Given the description of an element on the screen output the (x, y) to click on. 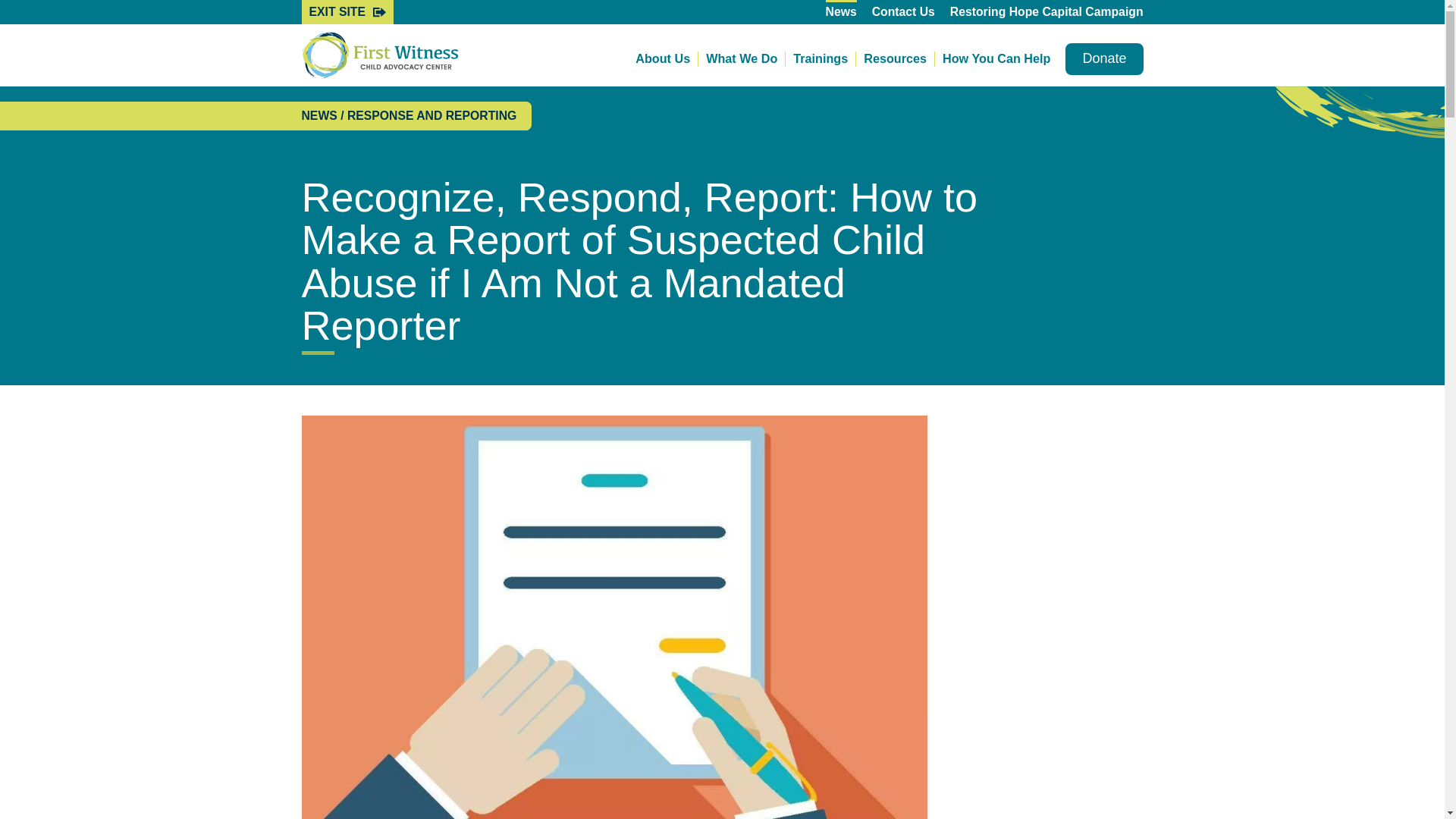
News (841, 12)
Forensic Interviewing (760, 125)
About Us (666, 58)
EXIT SITE (347, 12)
Contact Us (903, 12)
Go to the Response and Reporting category archives. (431, 115)
What We Do (746, 58)
Go to News. (319, 115)
Restoring Hope Capital Campaign (1046, 12)
Staff (667, 115)
